Given the description of an element on the screen output the (x, y) to click on. 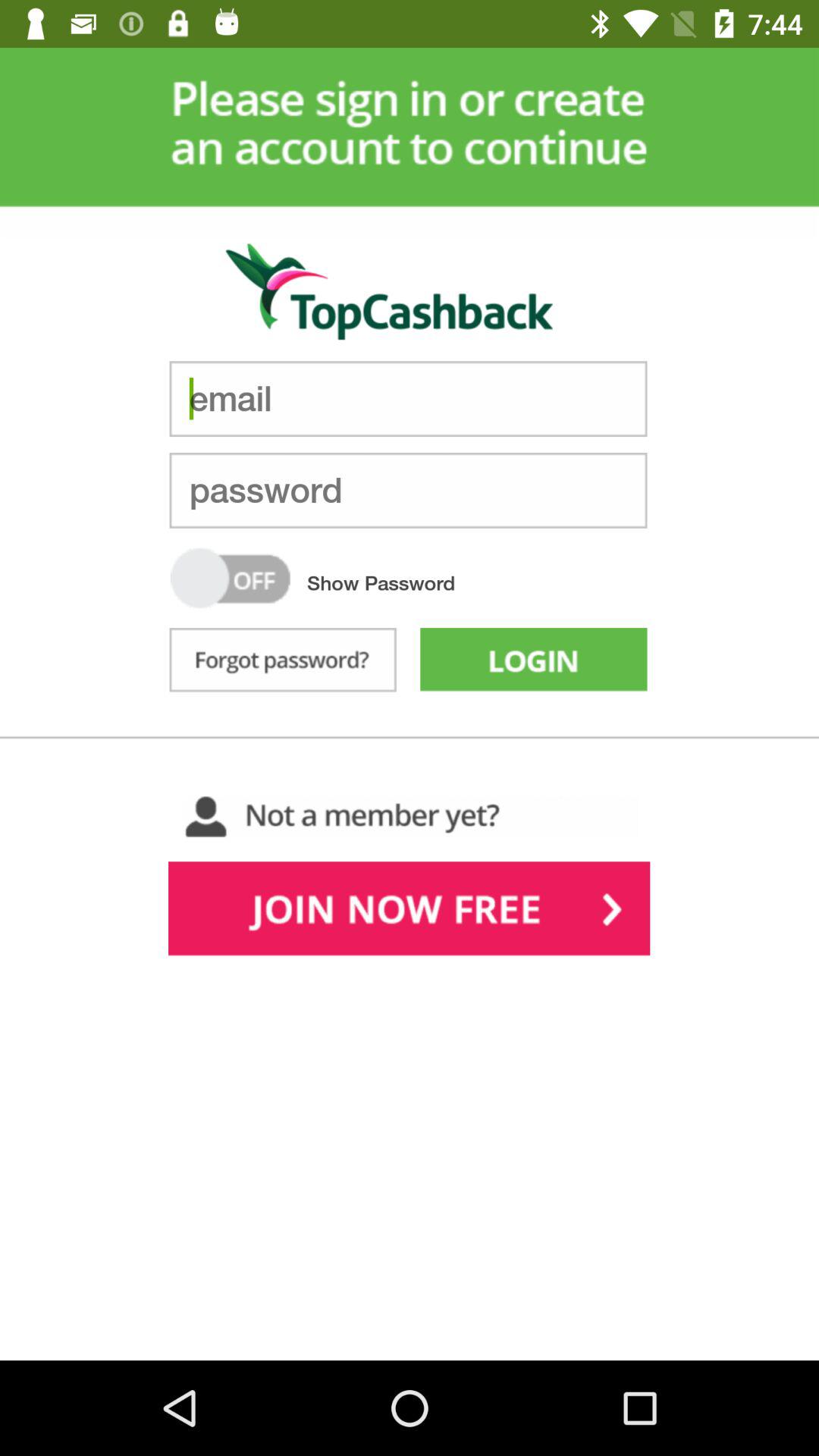
join now free (409, 912)
